Given the description of an element on the screen output the (x, y) to click on. 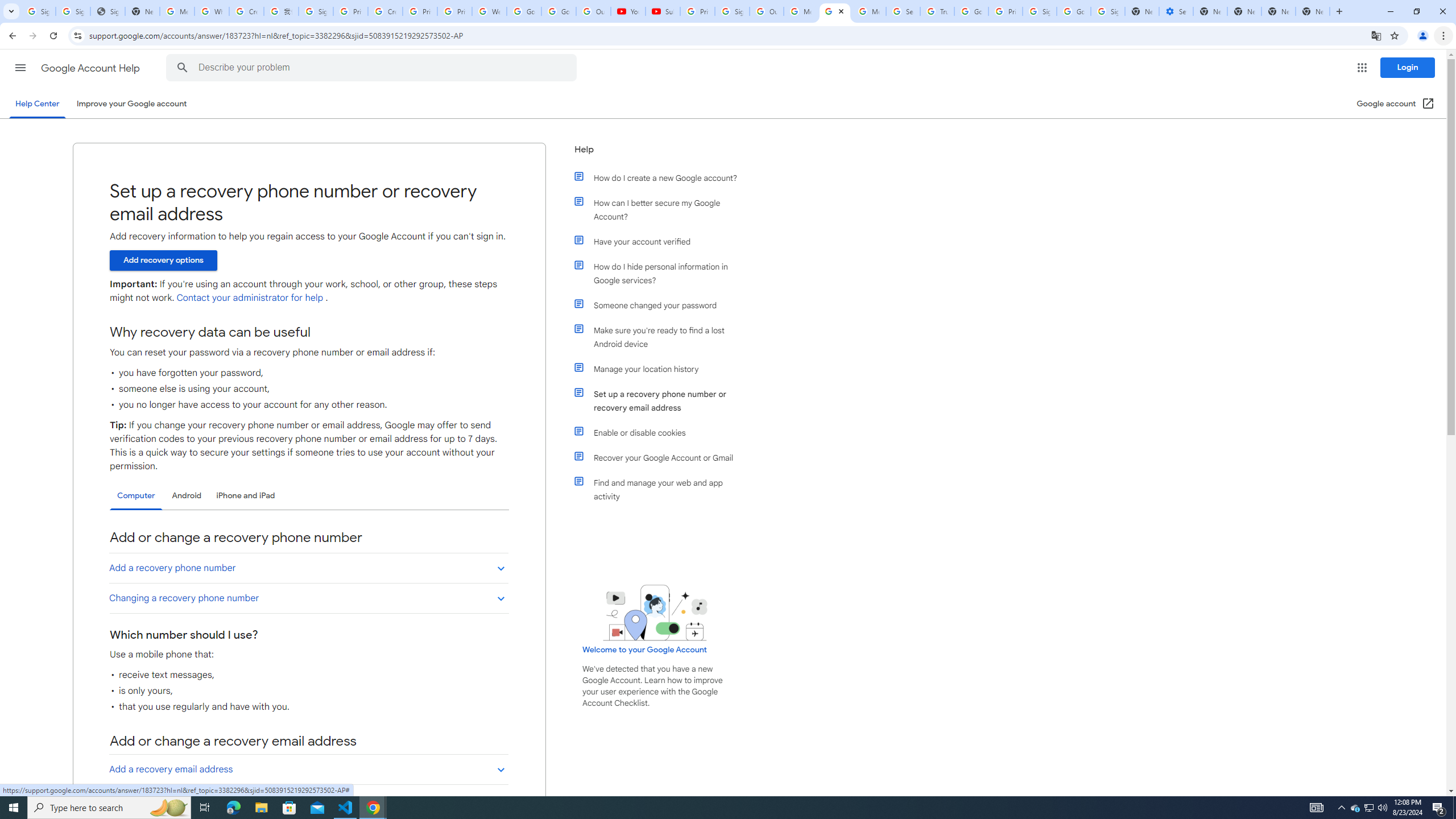
YouTube (627, 11)
Android (186, 495)
Trusted Information and Content - Google Safety Center (937, 11)
Sign in - Google Accounts (1039, 11)
Sign in - Google Accounts (73, 11)
Search the Help Center (181, 67)
Sign in - Google Accounts (38, 11)
Someone changed your password (661, 305)
Google Account Help (91, 68)
Enable or disable cookies (661, 432)
